Given the description of an element on the screen output the (x, y) to click on. 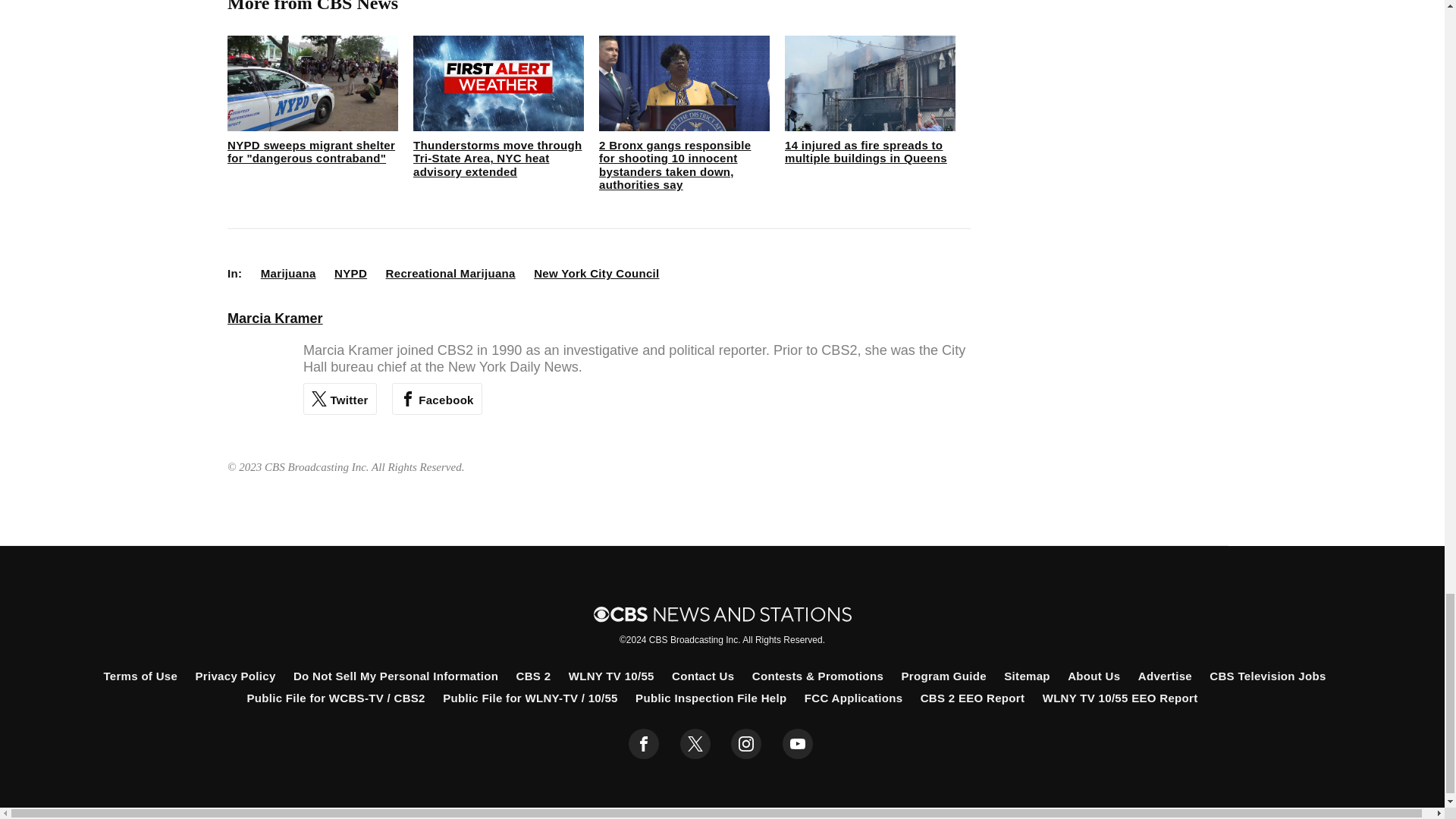
facebook (643, 743)
youtube (797, 743)
instagram (745, 743)
twitter (694, 743)
